Given the description of an element on the screen output the (x, y) to click on. 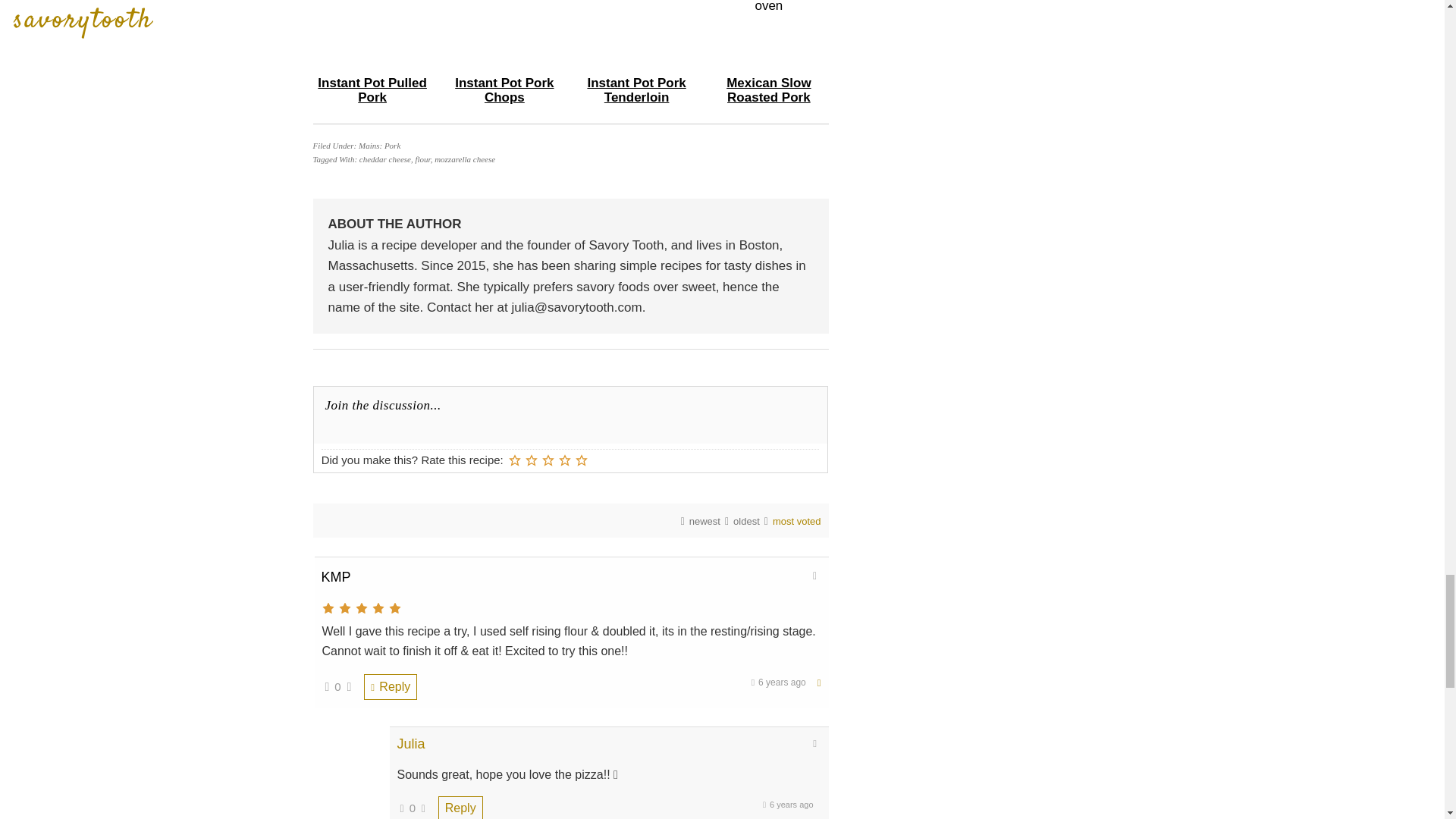
Reply (390, 687)
Reply (460, 807)
Mexican Slow Roasted Pork (768, 90)
Instant Pot Pork Chops (503, 90)
Instant Pot Pulled Pork (371, 90)
Instant Pot Pork Tenderloin (635, 90)
